Given the description of an element on the screen output the (x, y) to click on. 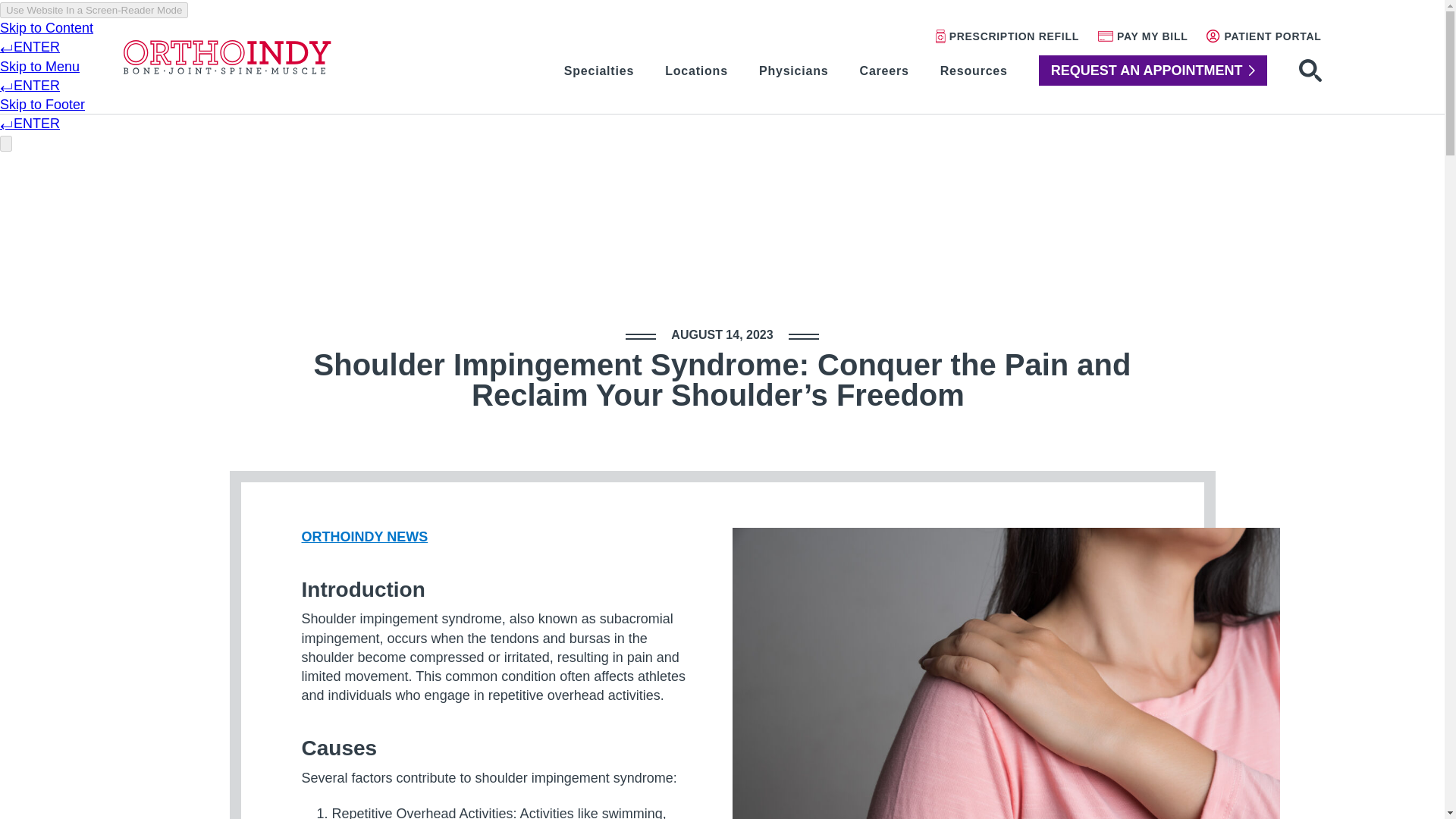
PRESCRIPTION REFILL (1007, 36)
Physicians (793, 71)
Resources (973, 71)
PATIENT PORTAL (1263, 36)
REQUEST AN APPOINTMENT (1153, 69)
Specialties (598, 71)
Locations (696, 71)
PAY MY BILL (1142, 36)
ORTHOINDY NEWS (364, 536)
Careers (884, 71)
